Given the description of an element on the screen output the (x, y) to click on. 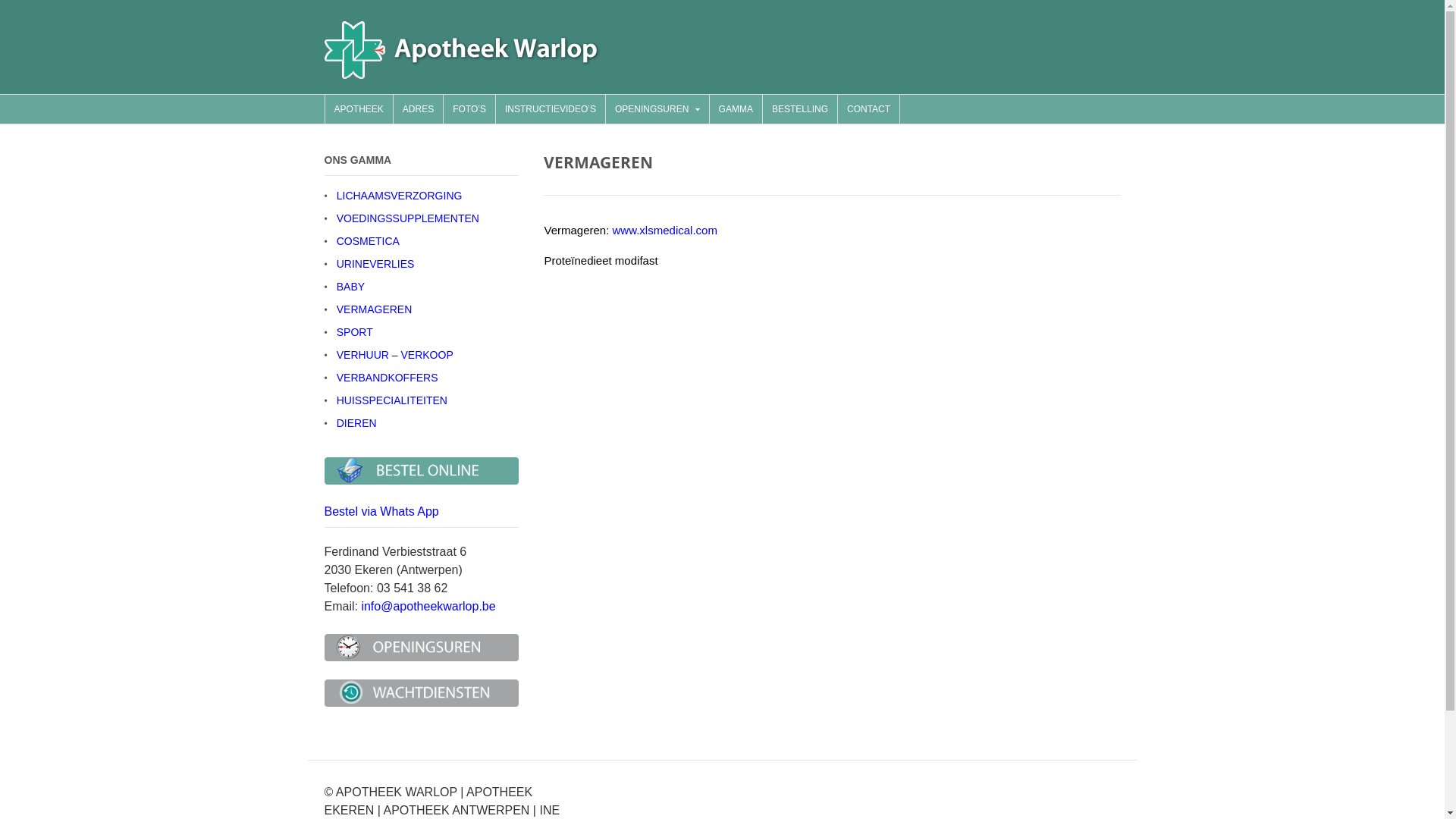
BABY Element type: text (350, 286)
VERBANDKOFFERS Element type: text (387, 377)
OPENINGSUREN Element type: text (657, 108)
VOEDINGSSUPPLEMENTEN Element type: text (407, 218)
GAMMA Element type: text (735, 108)
CONTACT Element type: text (868, 108)
COSMETICA Element type: text (367, 241)
info@apotheekwarlop.be Element type: text (427, 605)
Bestel via Whats App Element type: text (381, 511)
URINEVERLIES Element type: text (375, 263)
VERMAGEREN Element type: text (374, 309)
HUISSPECIALITEITEN Element type: text (391, 400)
APOTHEEK Element type: text (358, 108)
BESTELLING Element type: text (799, 108)
SPORT Element type: text (354, 332)
LICHAAMSVERZORGING Element type: text (399, 195)
www.xlsmedical.com Element type: text (664, 229)
DIEREN Element type: text (356, 423)
Apotheek Warlop, Apotheek Ekeren, Antwerpen Element type: hover (461, 70)
ADRES Element type: text (417, 108)
